Given the description of an element on the screen output the (x, y) to click on. 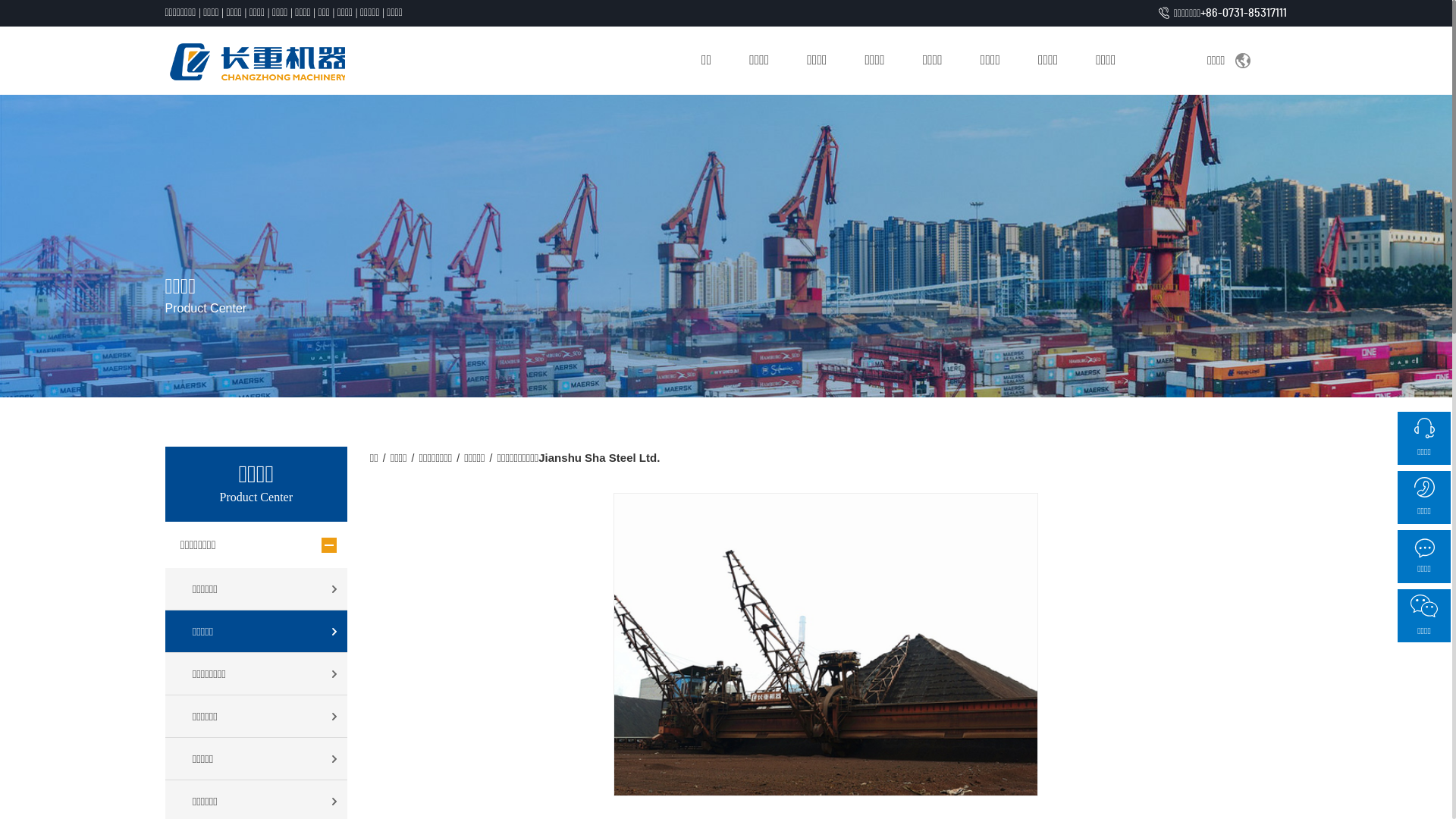
+86-0731-85317111 Element type: text (1243, 12)
imgboxbg Element type: hover (726, 245)
